Given the description of an element on the screen output the (x, y) to click on. 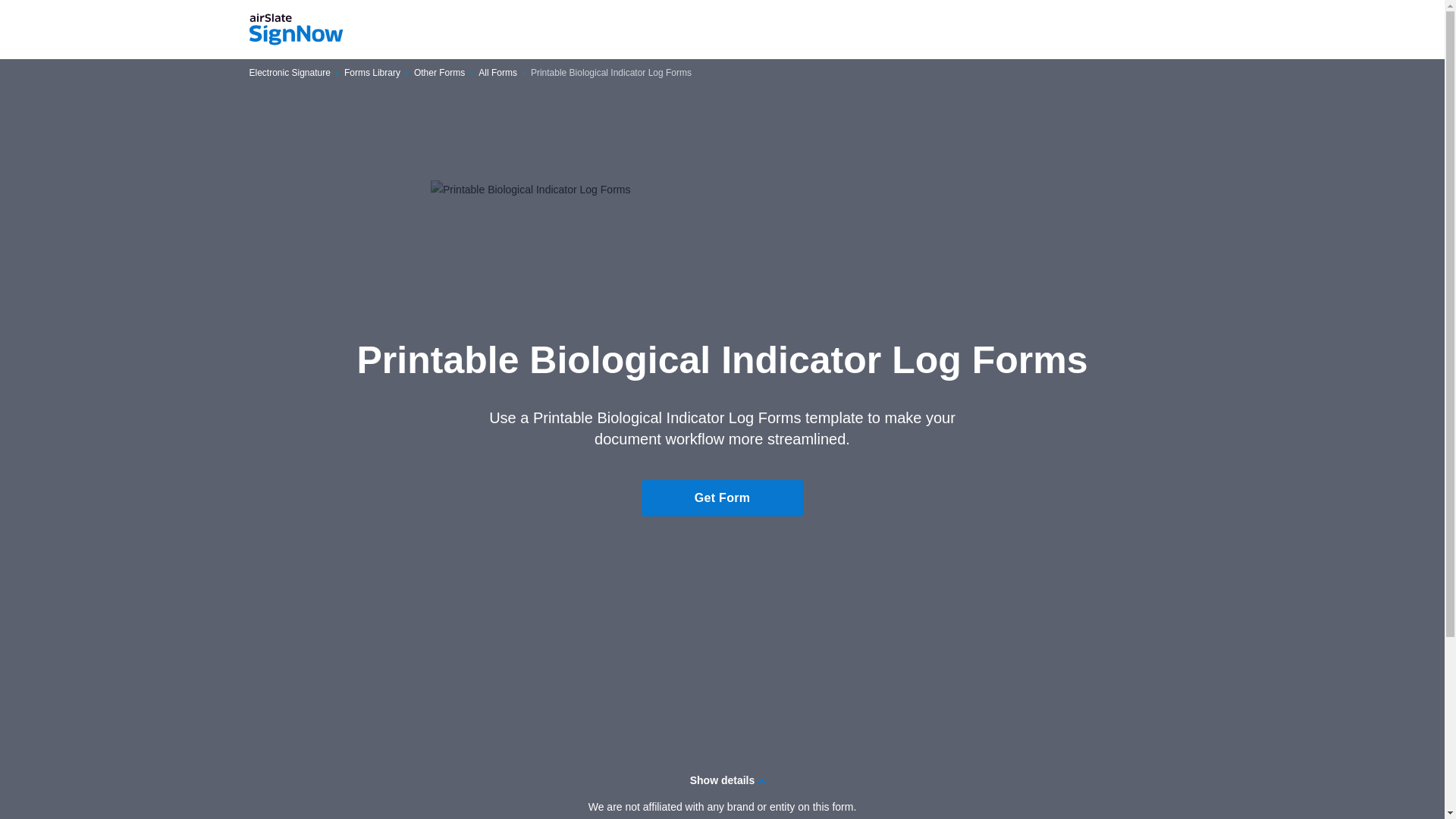
Forms Library (371, 73)
signNow (295, 29)
Show details (722, 780)
Electronic Signature (289, 73)
Get Form (722, 497)
Other Forms (438, 73)
All Forms (497, 73)
